Given the description of an element on the screen output the (x, y) to click on. 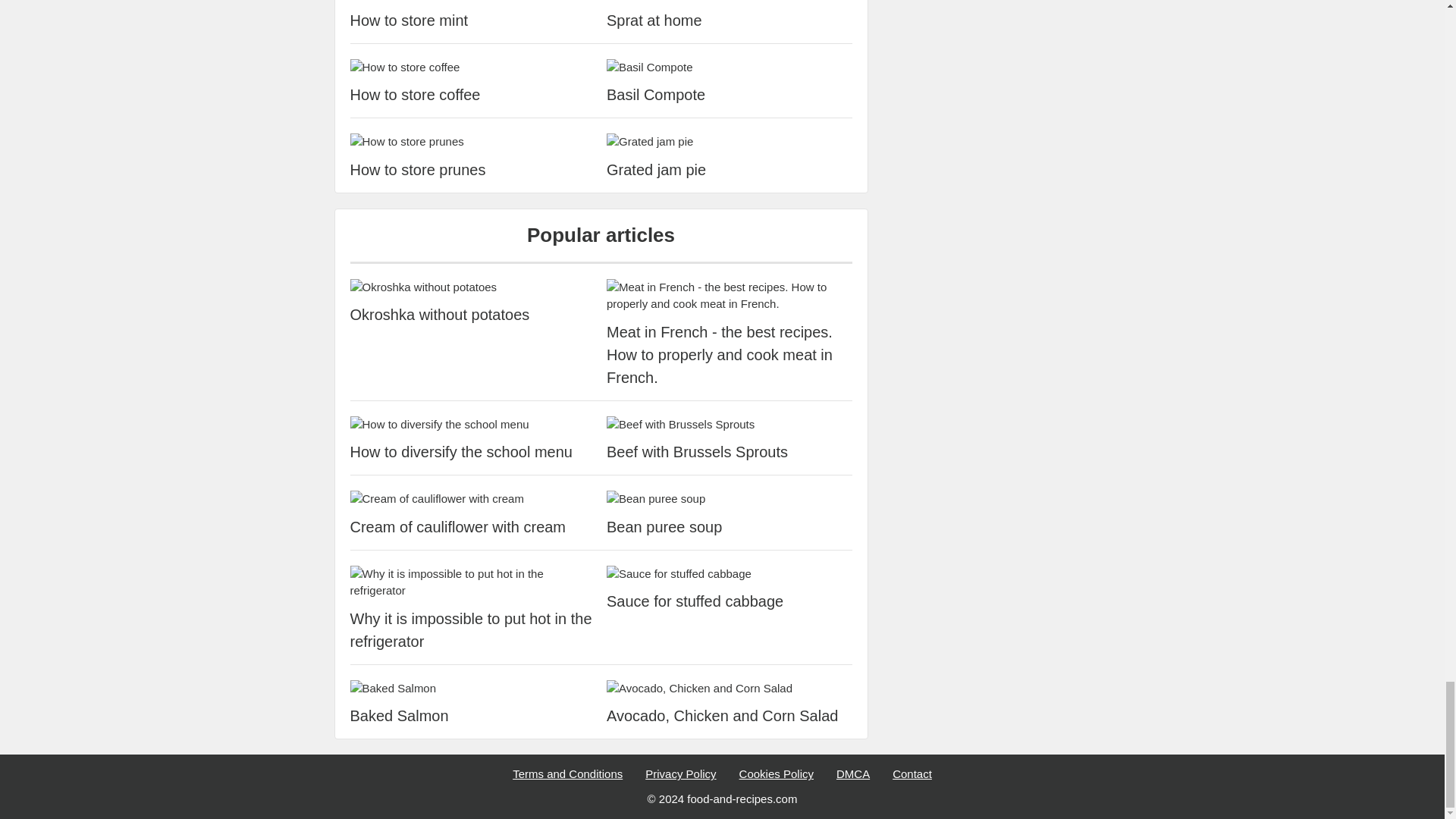
How to diversify the school menu (472, 425)
Basil Compote (729, 94)
Beef with Brussels Sprouts (729, 425)
How to store mint (472, 20)
Grated jam pie (729, 169)
How to store prunes (472, 169)
Sprat at home (729, 20)
Okroshka without potatoes (472, 314)
Okroshka without potatoes (472, 287)
How to diversify the school menu (472, 451)
Basil Compote (729, 67)
Beef with Brussels Sprouts (729, 451)
